Given the description of an element on the screen output the (x, y) to click on. 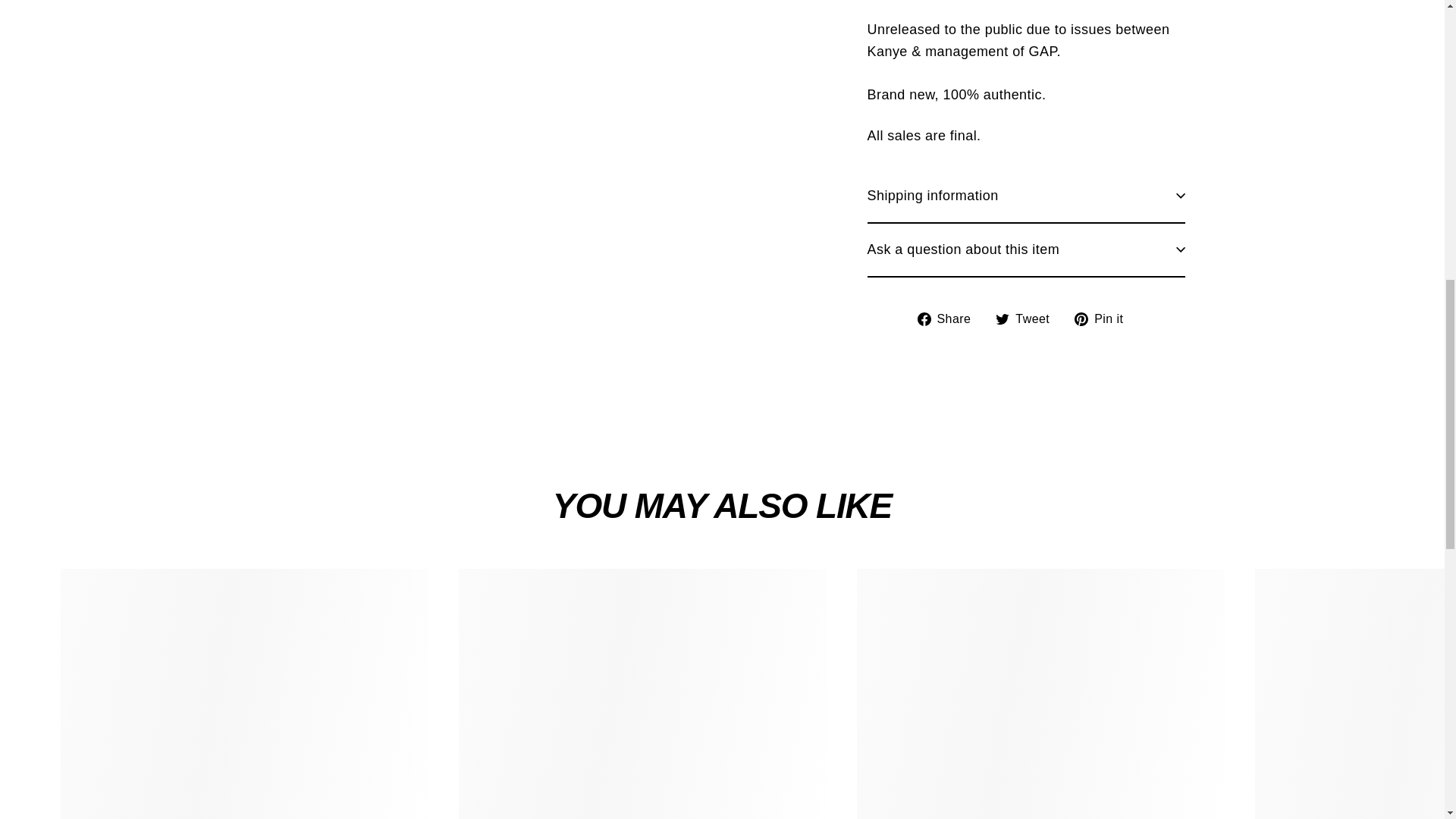
Pin on Pinterest (1104, 319)
Tweet on Twitter (1028, 319)
Share on Facebook (949, 319)
